Given the description of an element on the screen output the (x, y) to click on. 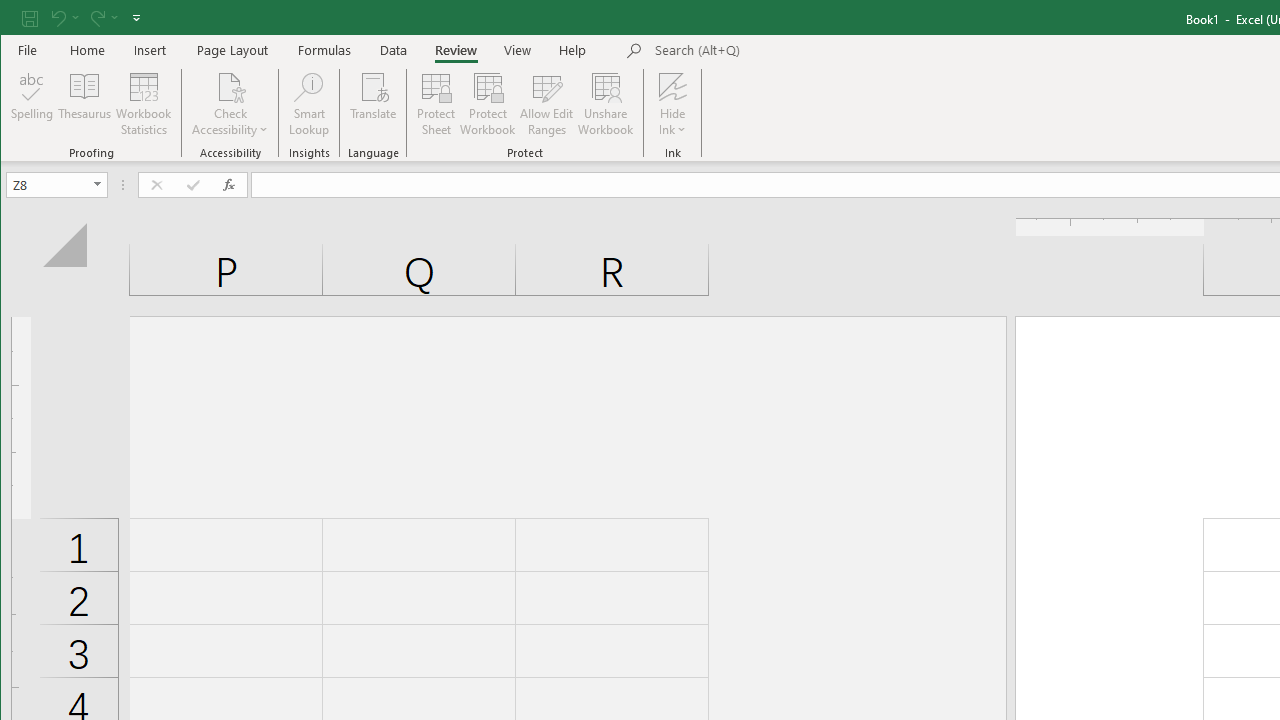
System (18, 18)
File Tab (28, 49)
Protect Workbook... (488, 104)
View (518, 50)
Spelling... (32, 104)
Save (29, 17)
Undo (57, 17)
